Given the description of an element on the screen output the (x, y) to click on. 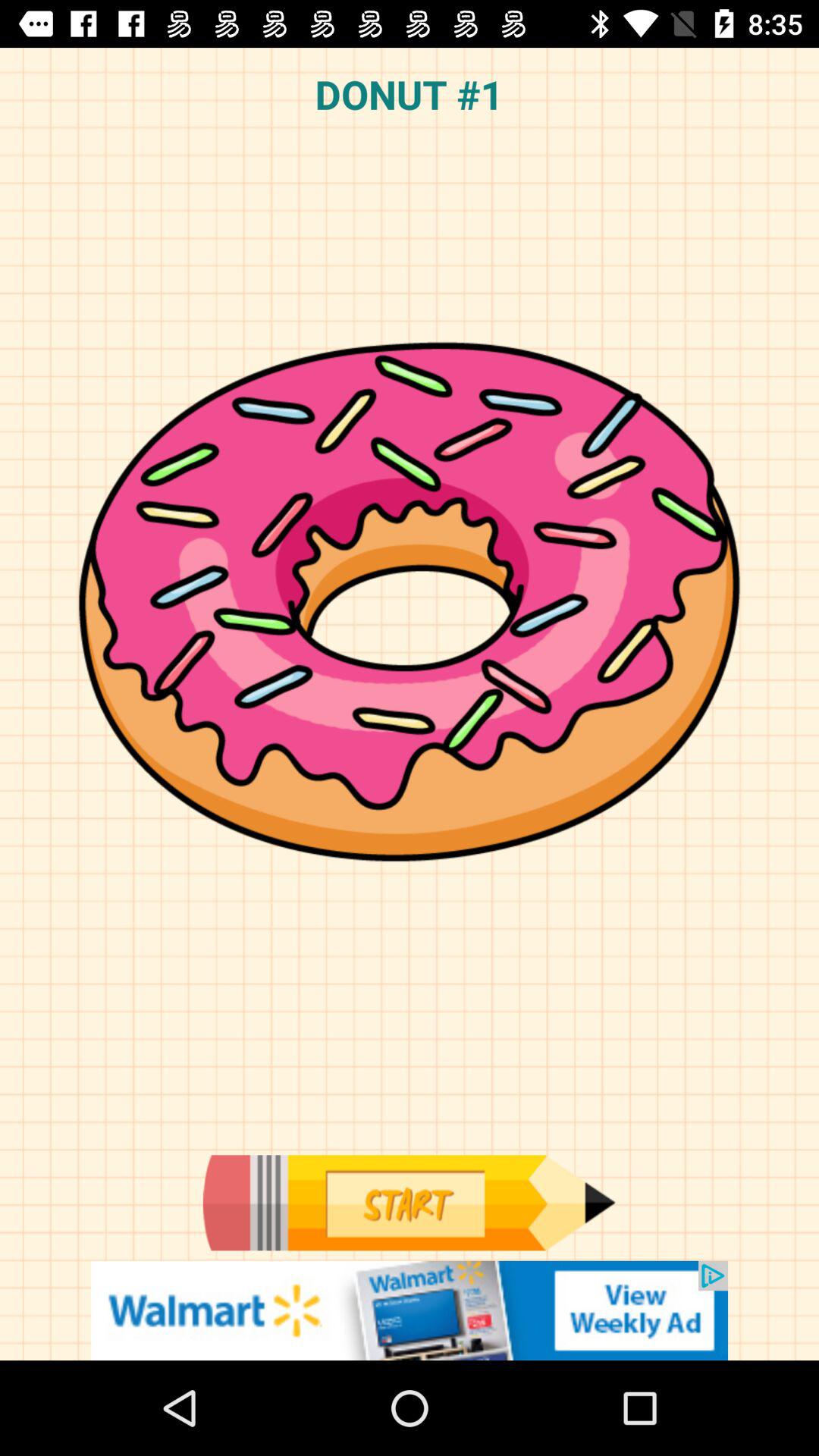
advertisement (409, 1310)
